Given the description of an element on the screen output the (x, y) to click on. 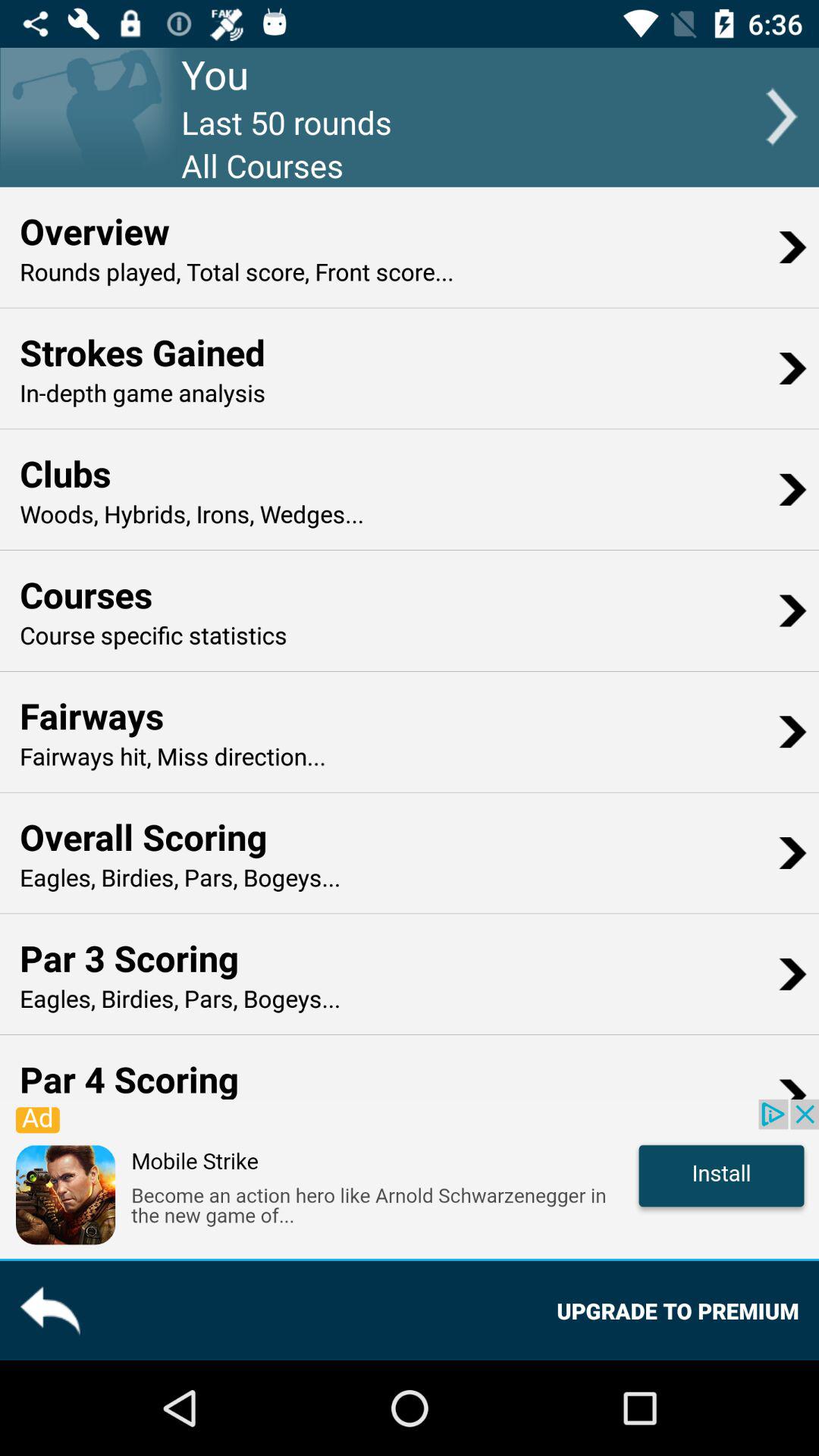
mobile strike advertisement (409, 1178)
